Given the description of an element on the screen output the (x, y) to click on. 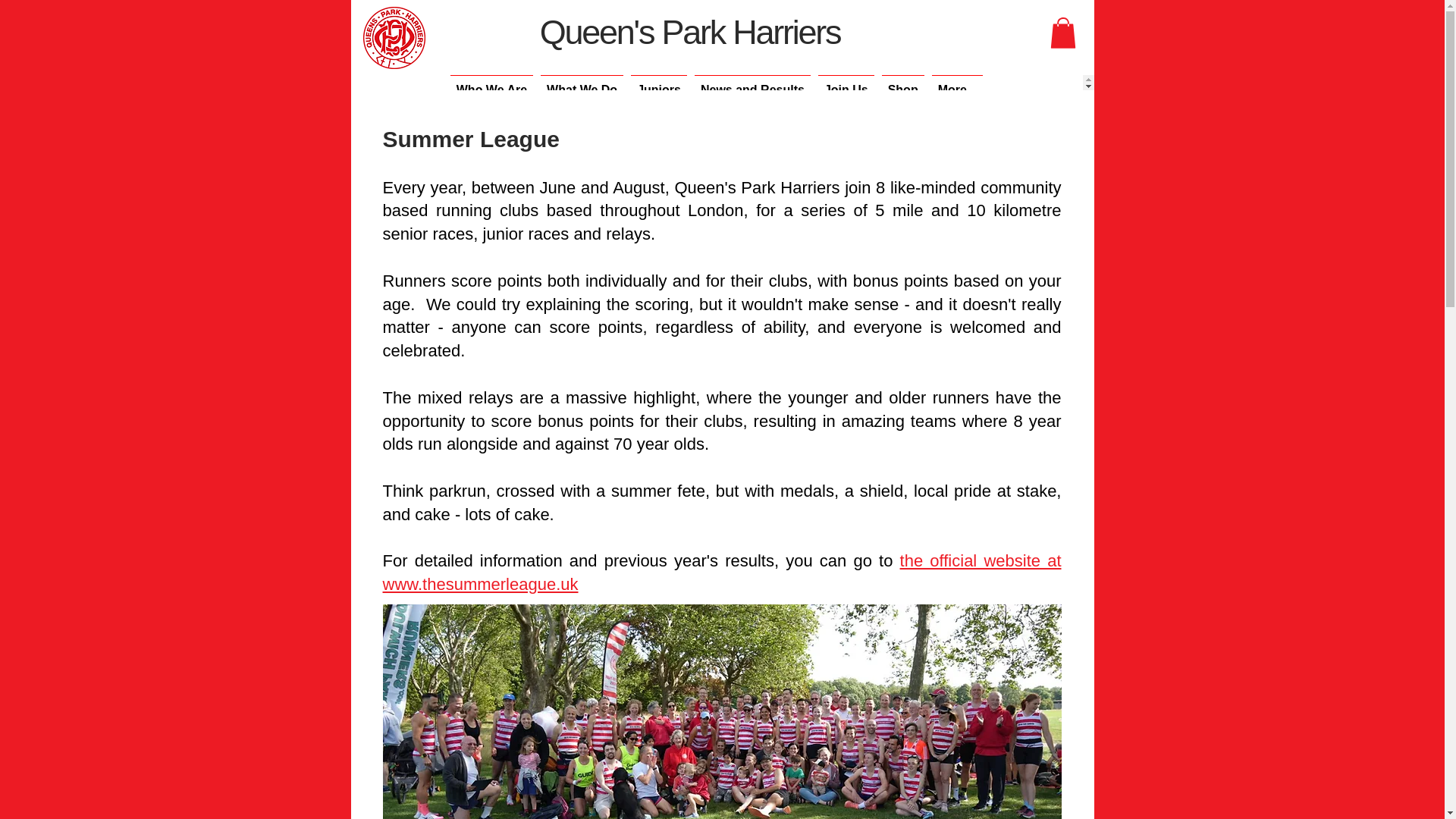
Shop (902, 82)
 Queen's Park Harriers (686, 32)
the official website at www.thesummerleague.uk (721, 572)
